Given the description of an element on the screen output the (x, y) to click on. 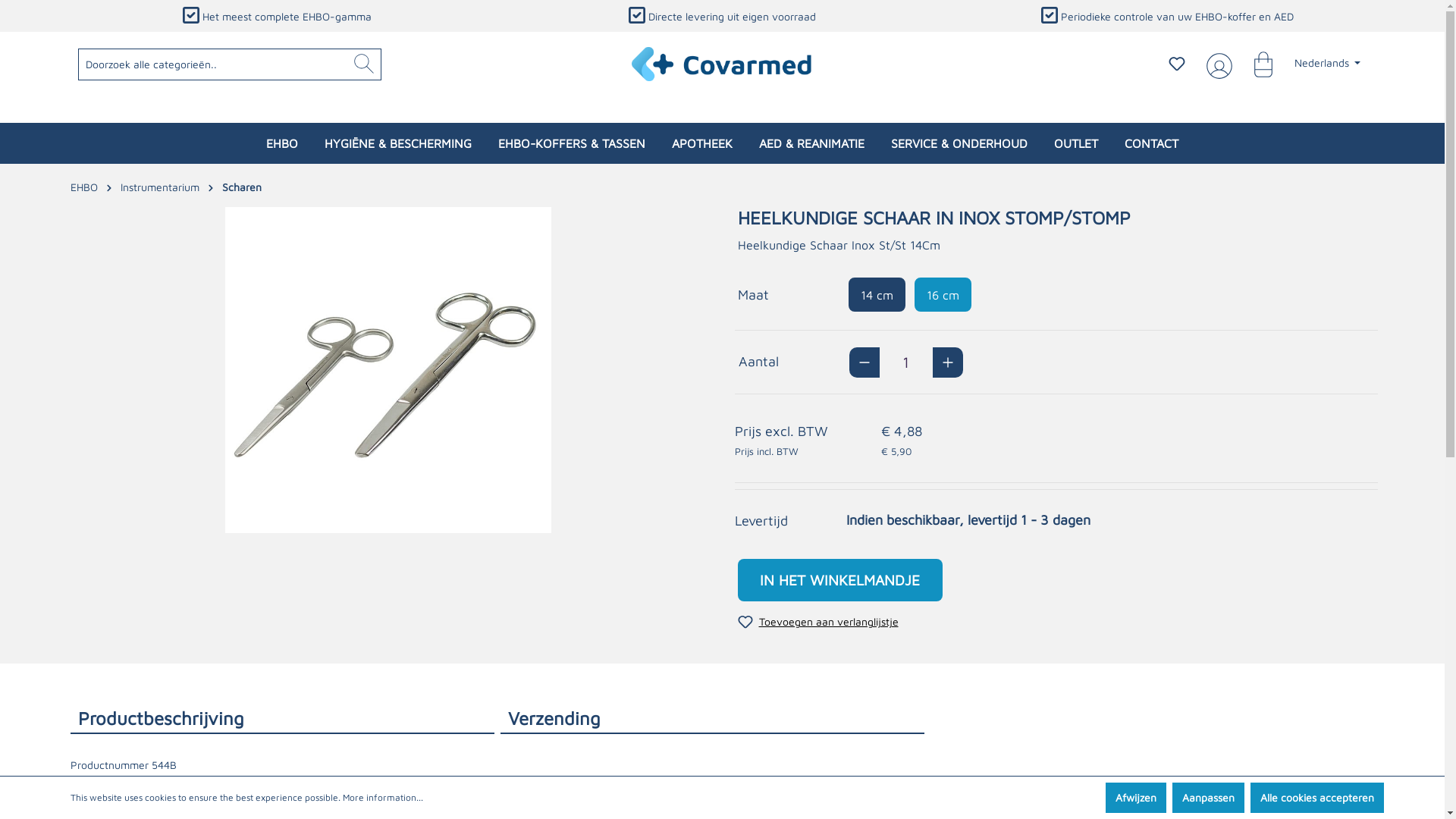
CONTACT Element type: text (1151, 142)
Heelkundige schaar in inox 14 cm - Stomp/stomp Element type: hover (387, 370)
EHBO Element type: text (83, 186)
APOTHEEK Element type: text (701, 142)
EHBO-KOFFERS & TASSEN Element type: text (571, 142)
SERVICE & ONDERHOUD Element type: text (958, 142)
Alle cookies accepteren Element type: text (1316, 797)
Verzending Element type: text (712, 716)
Naar de startpagina Element type: hover (722, 64)
Afwijzen Element type: text (1135, 797)
Toevoegen aan verlanglijstje Element type: text (817, 621)
Nederlands Element type: text (1327, 62)
Productbeschrijving Element type: text (281, 716)
Verlanglijstje Element type: hover (1176, 63)
IN HET WINKELMANDJE Element type: text (839, 579)
More information... Element type: text (382, 797)
AED & REANIMATIE Element type: text (811, 142)
OUTLET Element type: text (1075, 142)
Aanpassen Element type: text (1208, 797)
EHBO Element type: text (281, 142)
Scharen Element type: text (240, 186)
Instrumentarium Element type: text (158, 186)
